Given the description of an element on the screen output the (x, y) to click on. 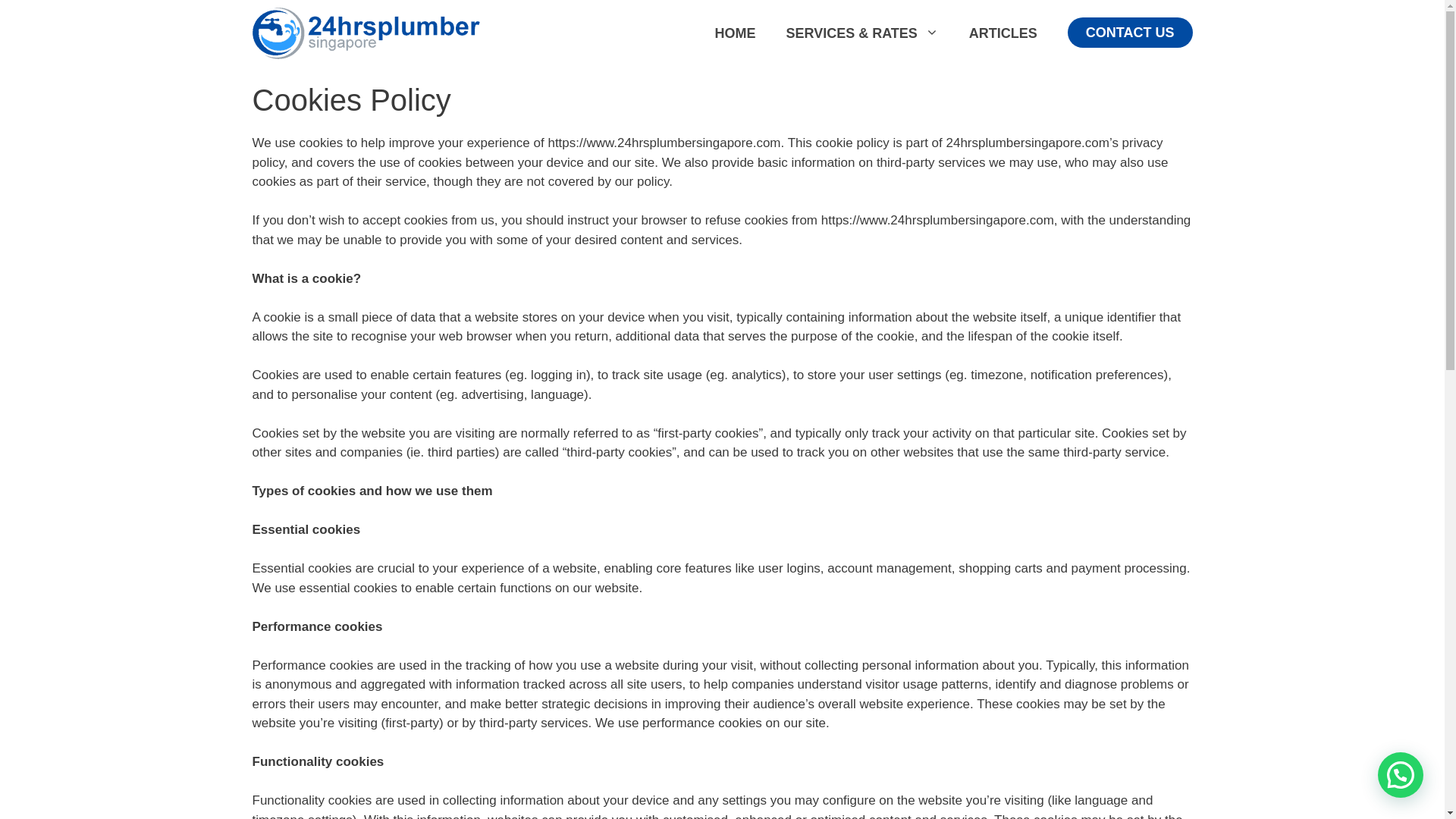
ARTICLES Element type: text (1002, 33)
Experienced Plumber Services Element type: hover (365, 32)
SERVICES & RATES Element type: text (861, 33)
CONTACT US Element type: text (1129, 32)
HOME Element type: text (734, 33)
Experienced Plumber Services Element type: hover (365, 33)
